Given the description of an element on the screen output the (x, y) to click on. 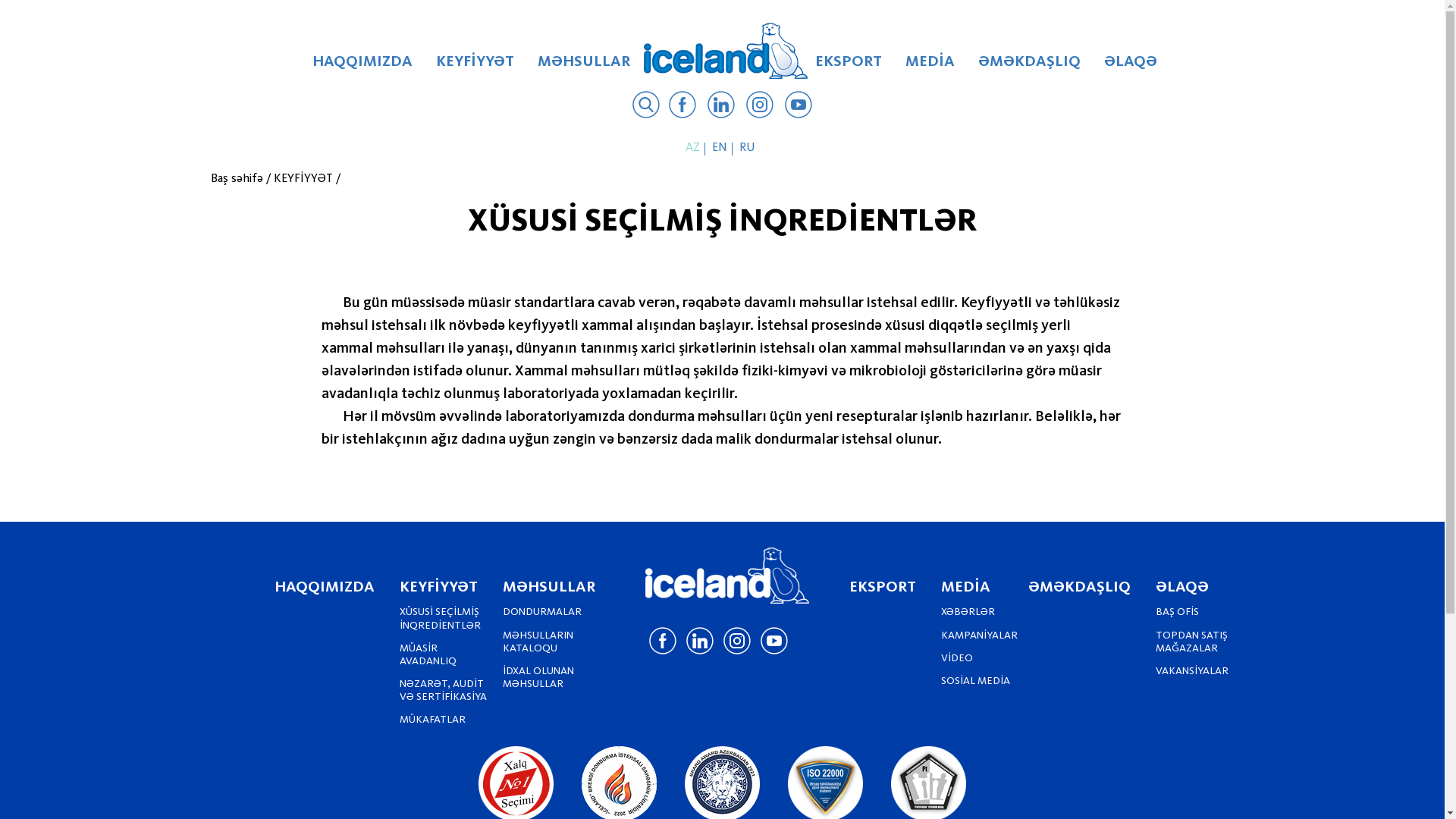
Facebook Element type: hover (682, 106)
Instagram Element type: hover (759, 106)
Linkedin Element type: hover (720, 106)
Iceland Element type: hover (725, 50)
EKSPORT Element type: text (847, 67)
Youtube Element type: hover (798, 106)
DONDURMALAR Element type: text (541, 611)
EN Element type: text (721, 147)
HAQQIMIZDA Element type: text (362, 67)
HAQQIMIZDA Element type: text (324, 587)
Iceland Element type: hover (727, 575)
RU Element type: text (748, 147)
EKSPORT Element type: text (882, 587)
